Given the description of an element on the screen output the (x, y) to click on. 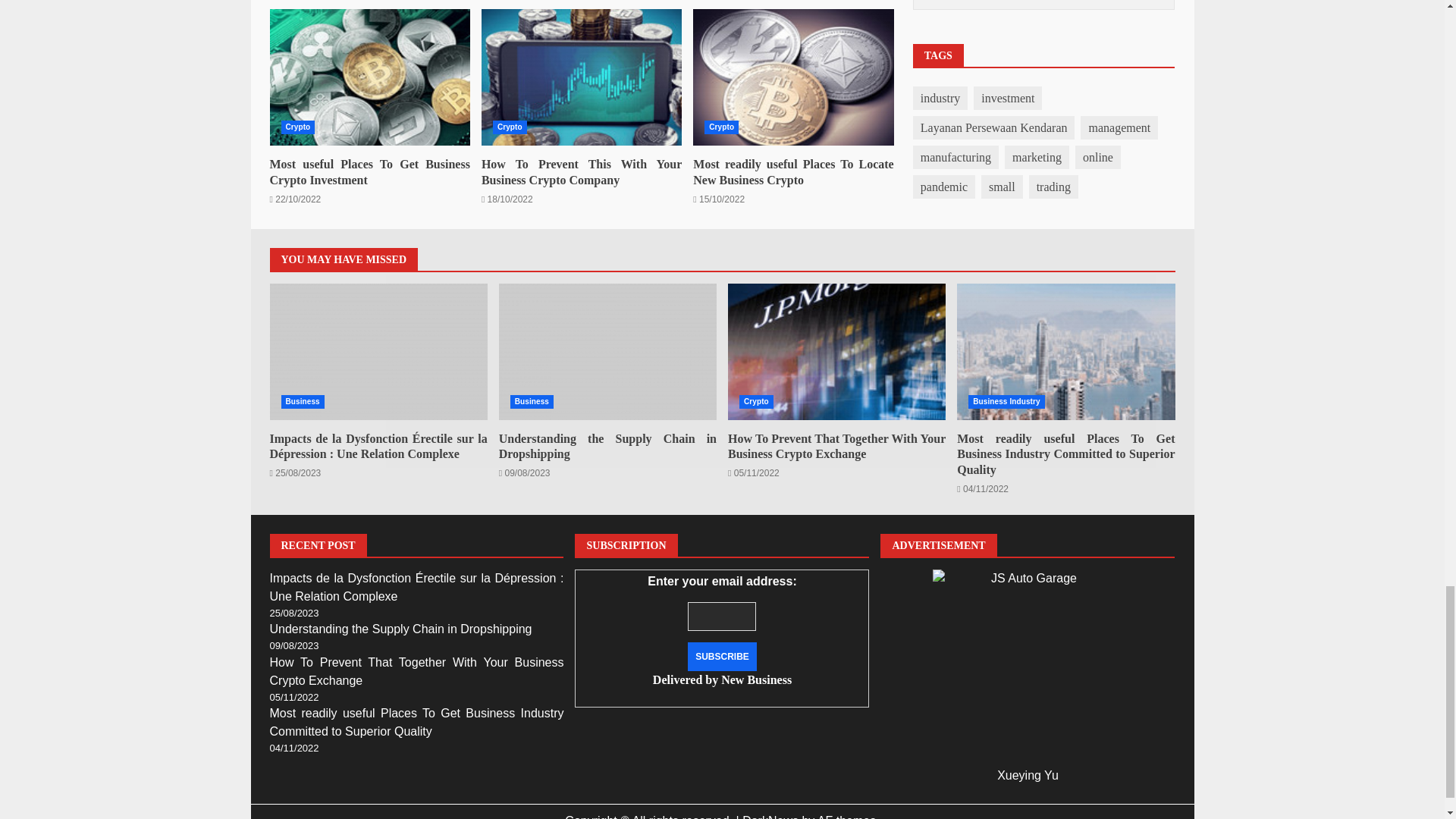
Crypto (721, 127)
Most useful Places To Get Business Crypto Investment (369, 77)
Subscribe (722, 656)
Most readily useful Places To Locate New Business Crypto (793, 77)
Crypto (297, 127)
Most readily useful Places To Locate New Business Crypto (793, 172)
Most useful Places To Get Business Crypto Investment (369, 77)
Most useful Places To Get Business Crypto Investment (369, 172)
Most readily useful Places To Locate New Business Crypto (793, 77)
How To Prevent This With Your Business Crypto Company (581, 172)
How To Prevent This With Your Business Crypto Company (581, 77)
Understanding the Supply Chain in Dropshipping (607, 351)
Crypto (510, 127)
How To Prevent This With Your Business Crypto Company (581, 77)
